Given the description of an element on the screen output the (x, y) to click on. 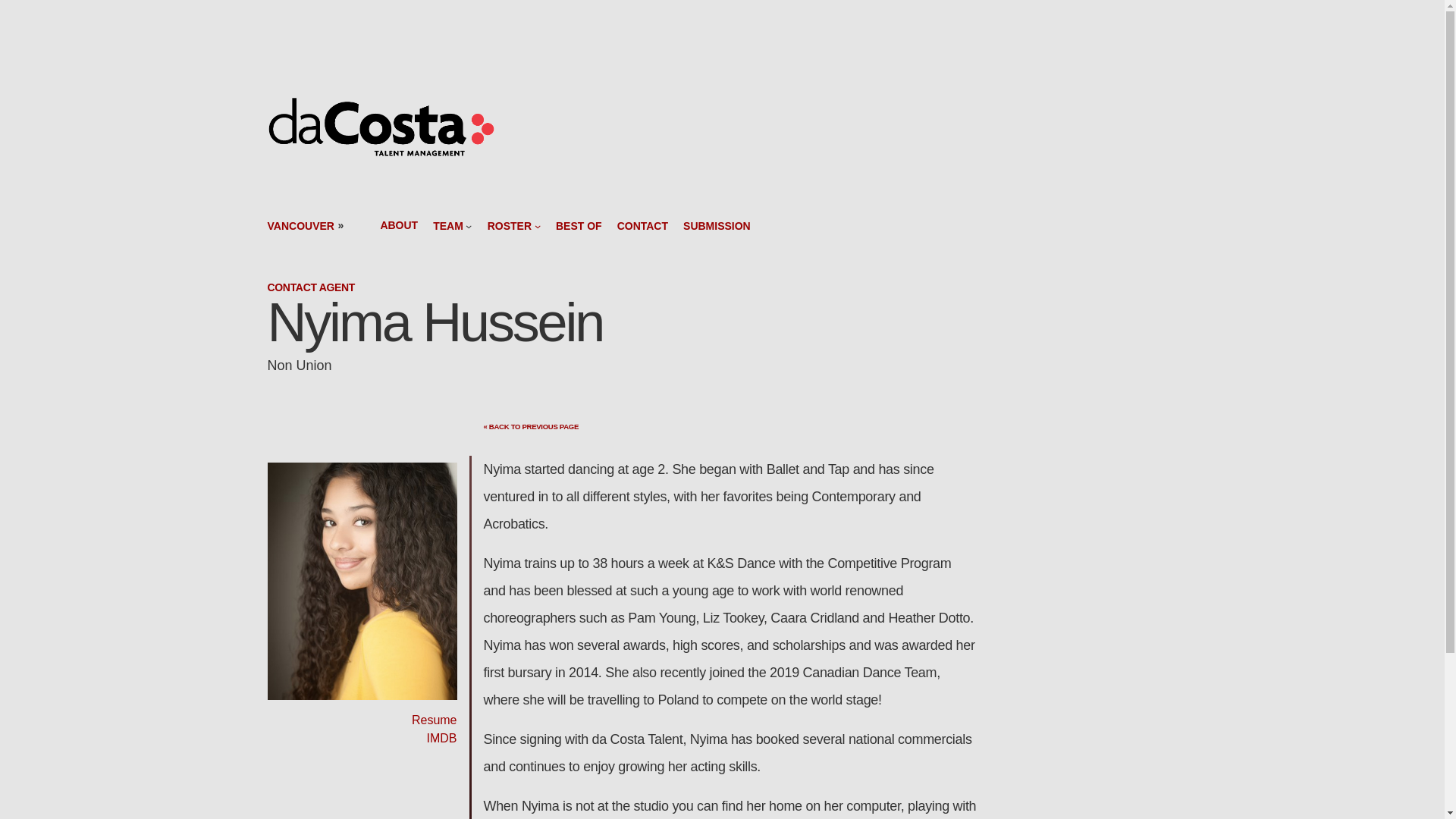
Resume (434, 719)
IMDB (441, 738)
BEST OF (579, 225)
SUBMISSION (716, 225)
ABOUT (398, 225)
ROSTER (509, 225)
TEAM (447, 225)
CONTACT AGENT (310, 287)
CONTACT (642, 225)
VANCOUVER (299, 225)
